Given the description of an element on the screen output the (x, y) to click on. 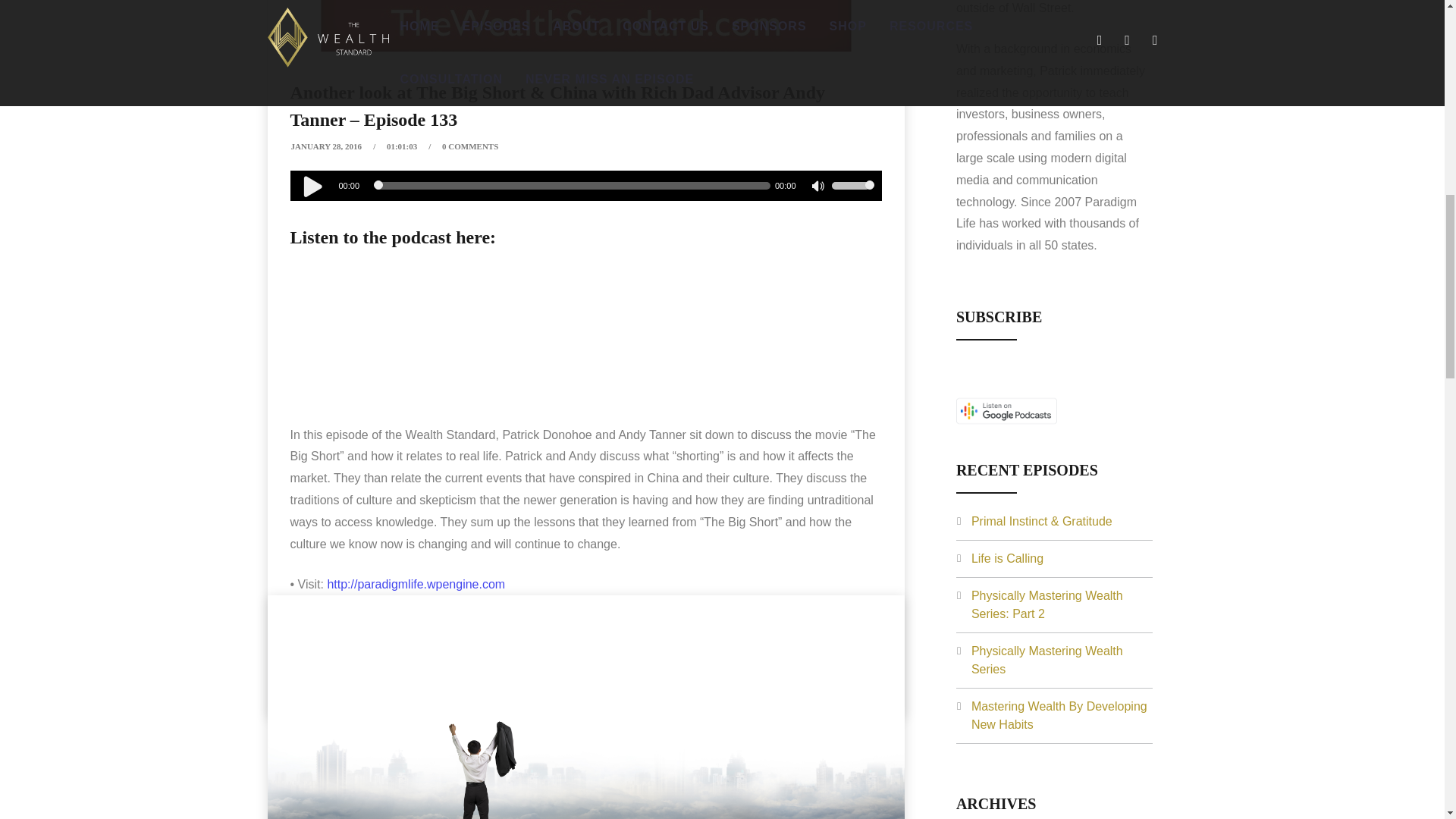
0 COMMENTS (469, 145)
JANUARY 28, 2016 (326, 145)
Play (312, 185)
Mute (818, 187)
